Given the description of an element on the screen output the (x, y) to click on. 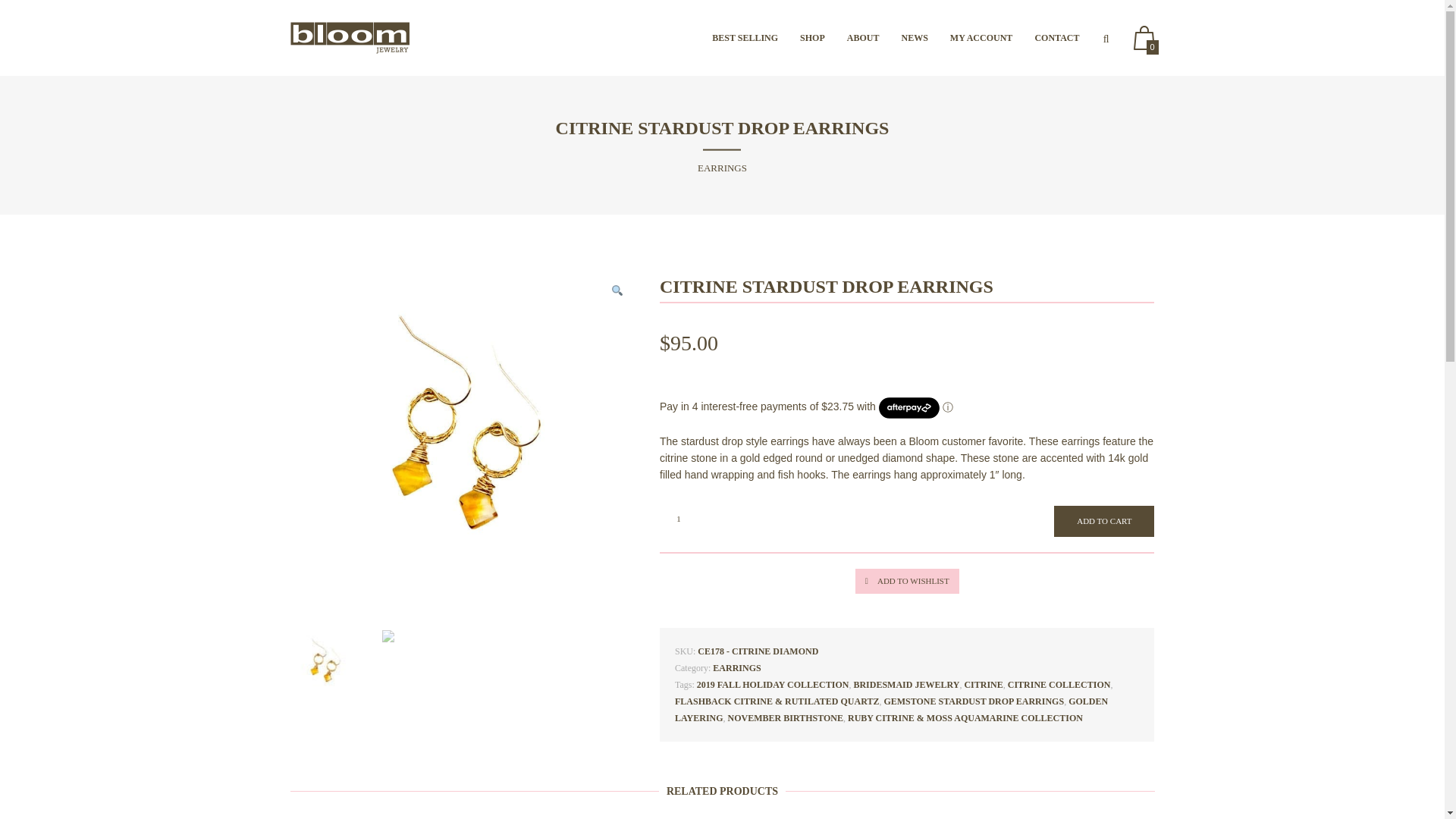
Skip to primary content (764, 37)
1 (678, 518)
Skip to secondary content (771, 37)
Afterpay (909, 407)
Bloom Jewelry (349, 37)
